Given the description of an element on the screen output the (x, y) to click on. 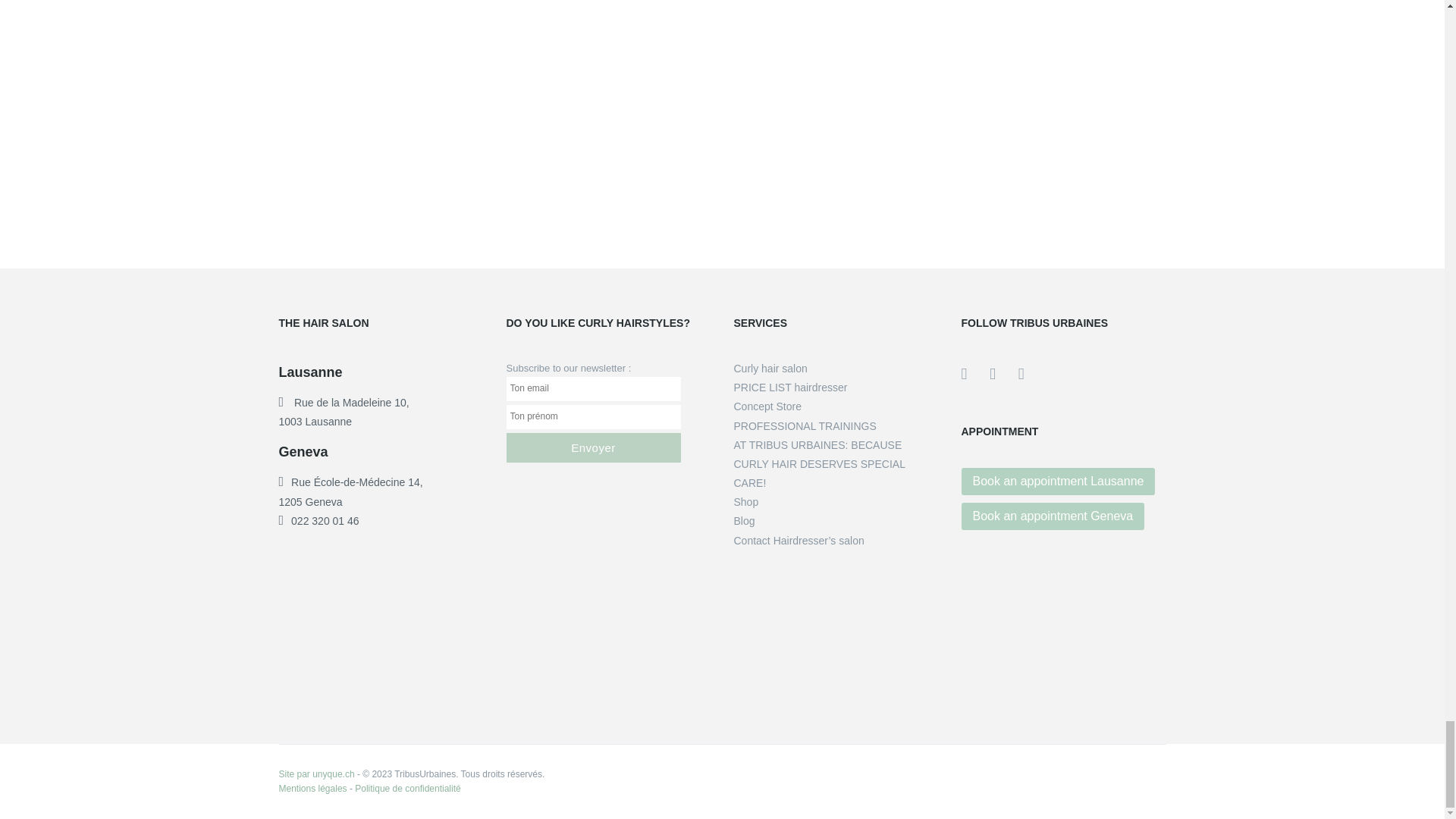
PRICE LIST hairdresser (790, 387)
Facebook (975, 373)
Blog (744, 521)
Concept Store (767, 406)
Envoyer (593, 447)
Envoyer (593, 447)
Curly hair salon (770, 368)
Youtube (1003, 373)
Shop (745, 501)
